Given the description of an element on the screen output the (x, y) to click on. 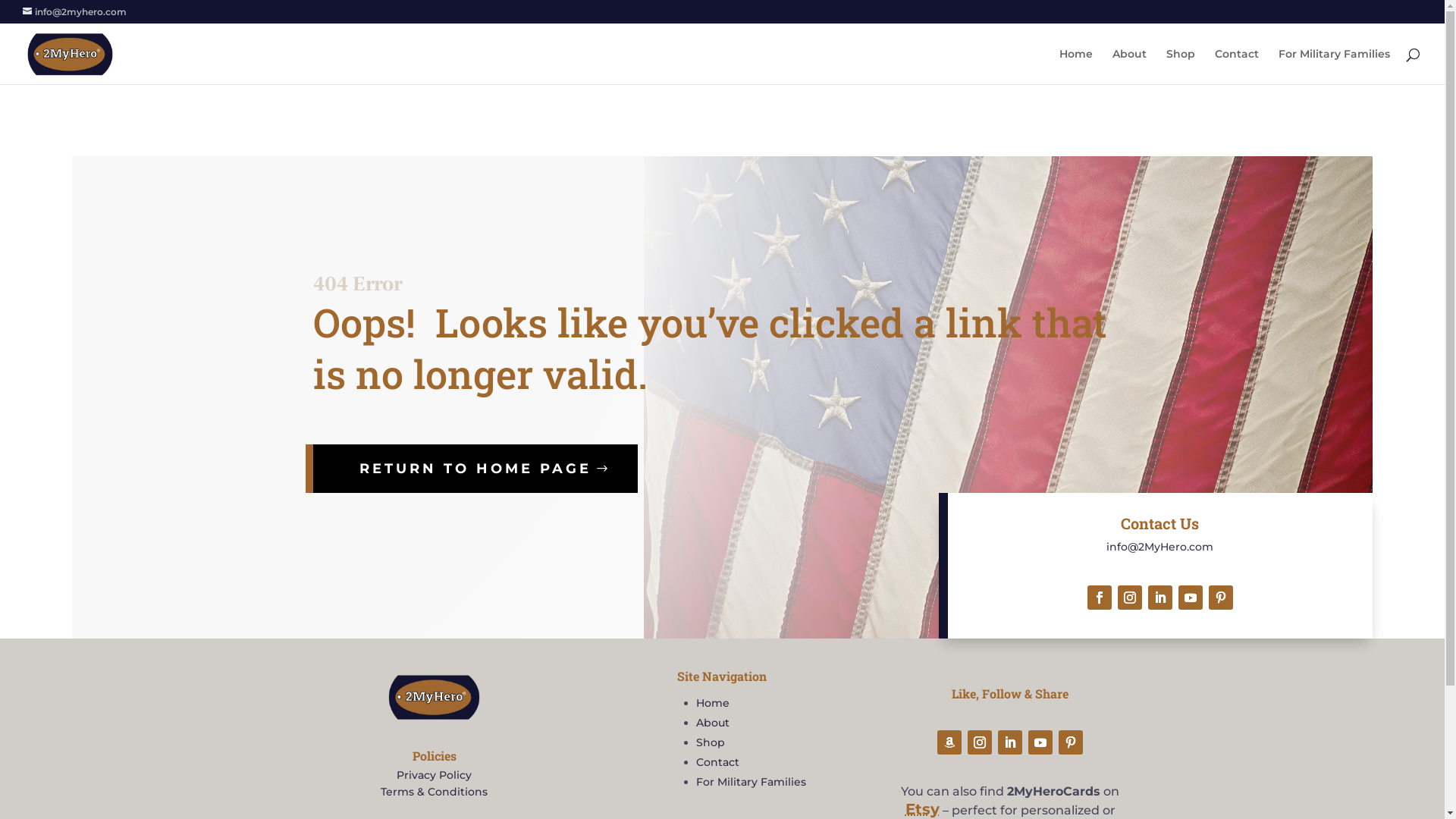
Follow on LinkedIn Element type: hover (1009, 741)
Follow on Instagram Element type: hover (1129, 597)
Etsy Element type: text (922, 809)
For Military Families Element type: text (751, 781)
Follow on Pinterest Element type: hover (1070, 741)
Follow on Facebook Element type: hover (1099, 597)
About Element type: text (712, 722)
Shop Element type: text (1180, 66)
info@2myhero.com Element type: text (74, 11)
full logosmall Element type: hover (433, 696)
Privacy Policy Element type: text (433, 774)
RETURN TO HOME PAGE Element type: text (474, 468)
About Element type: text (1129, 66)
Follow on Youtube Element type: hover (1190, 597)
Follow on Youtube Element type: hover (1040, 741)
Terms & Conditions Element type: text (433, 791)
Follow on LinkedIn Element type: hover (1160, 597)
Home Element type: text (712, 702)
Follow on Pinterest Element type: hover (1220, 597)
Follow on Instagram Element type: hover (979, 741)
Contact Element type: text (717, 761)
Home Element type: text (1075, 66)
Shop Element type: text (710, 742)
Contact Element type: text (1236, 66)
info@2MyHero.com Element type: text (1159, 546)
Follow on Amazon Element type: hover (949, 741)
For Military Families Element type: text (1334, 66)
